Given the description of an element on the screen output the (x, y) to click on. 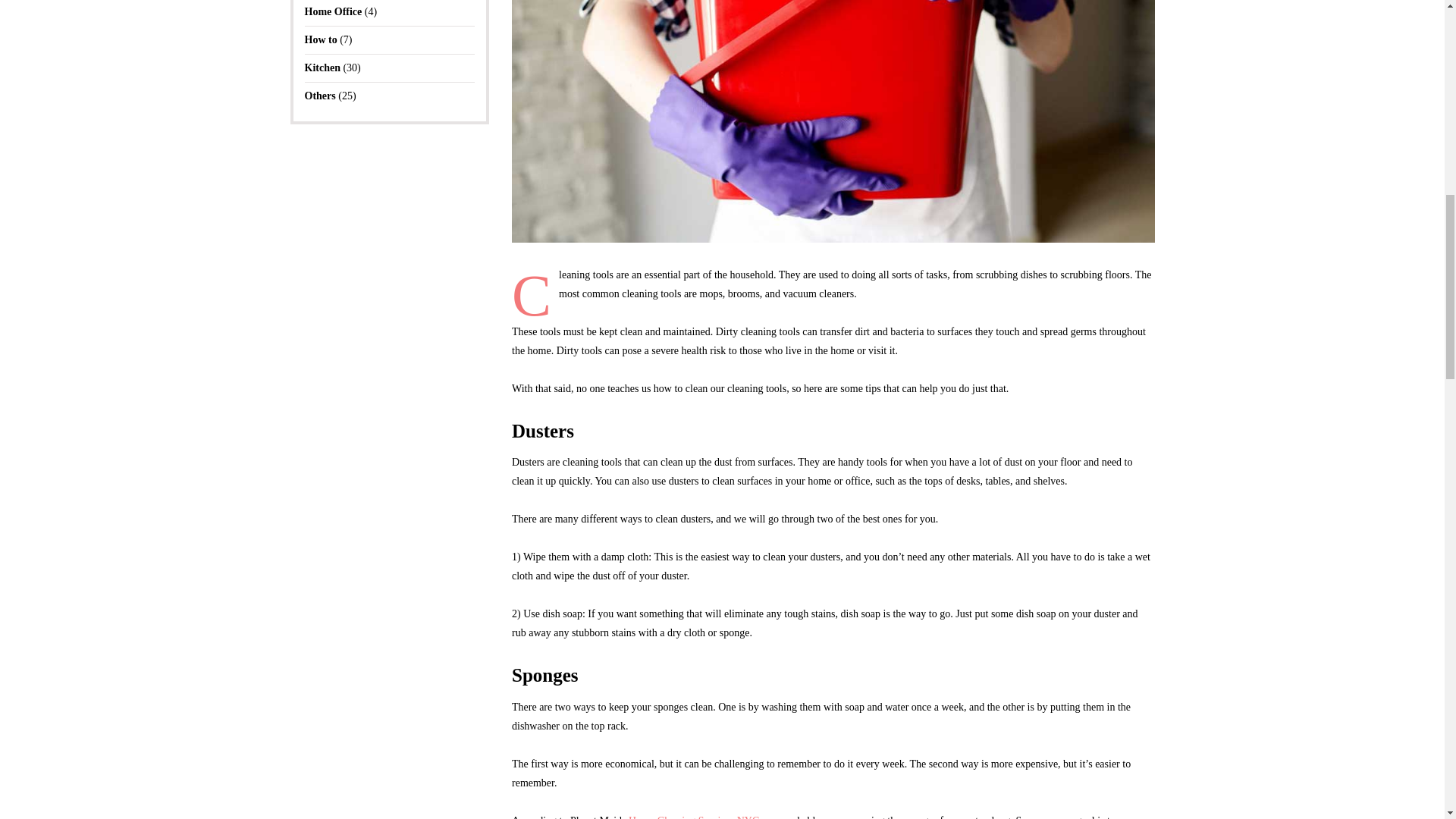
Others (320, 95)
How to (320, 39)
Home Office (333, 11)
Home Cleaning Services NYC (693, 816)
Kitchen (322, 67)
